Given the description of an element on the screen output the (x, y) to click on. 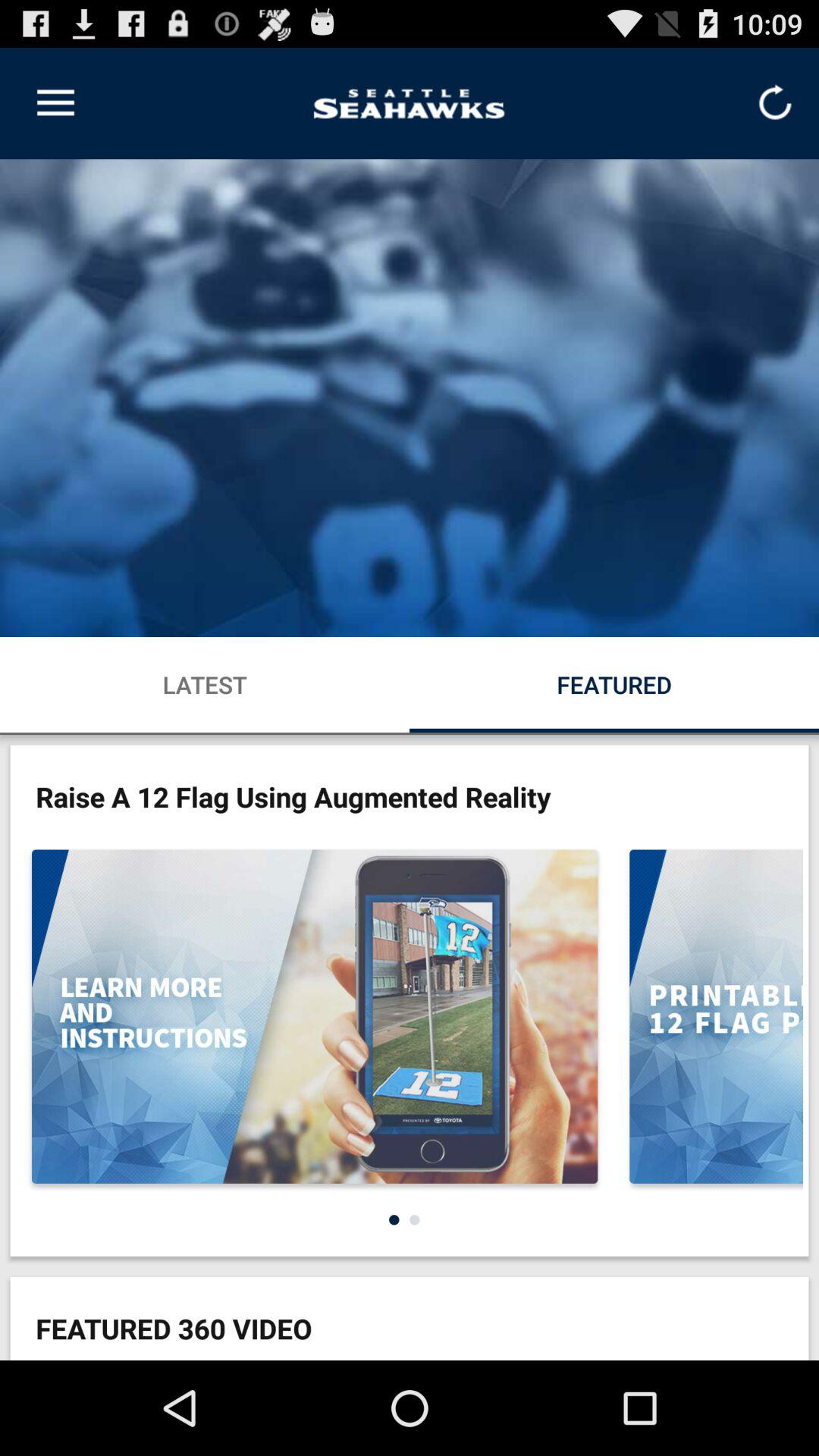
click the icon at the top left corner (55, 103)
